Given the description of an element on the screen output the (x, y) to click on. 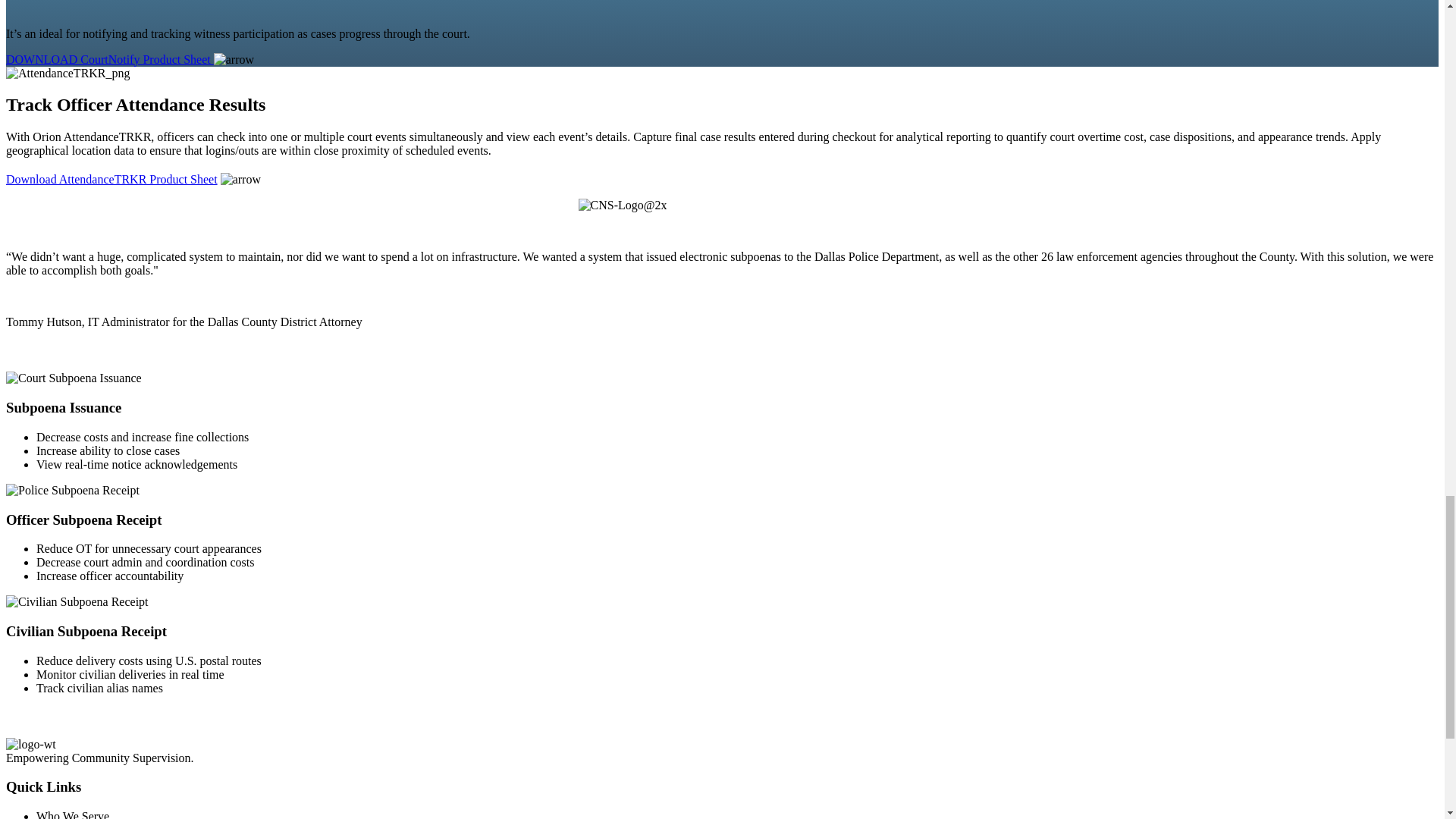
logo-wt (30, 744)
